Given the description of an element on the screen output the (x, y) to click on. 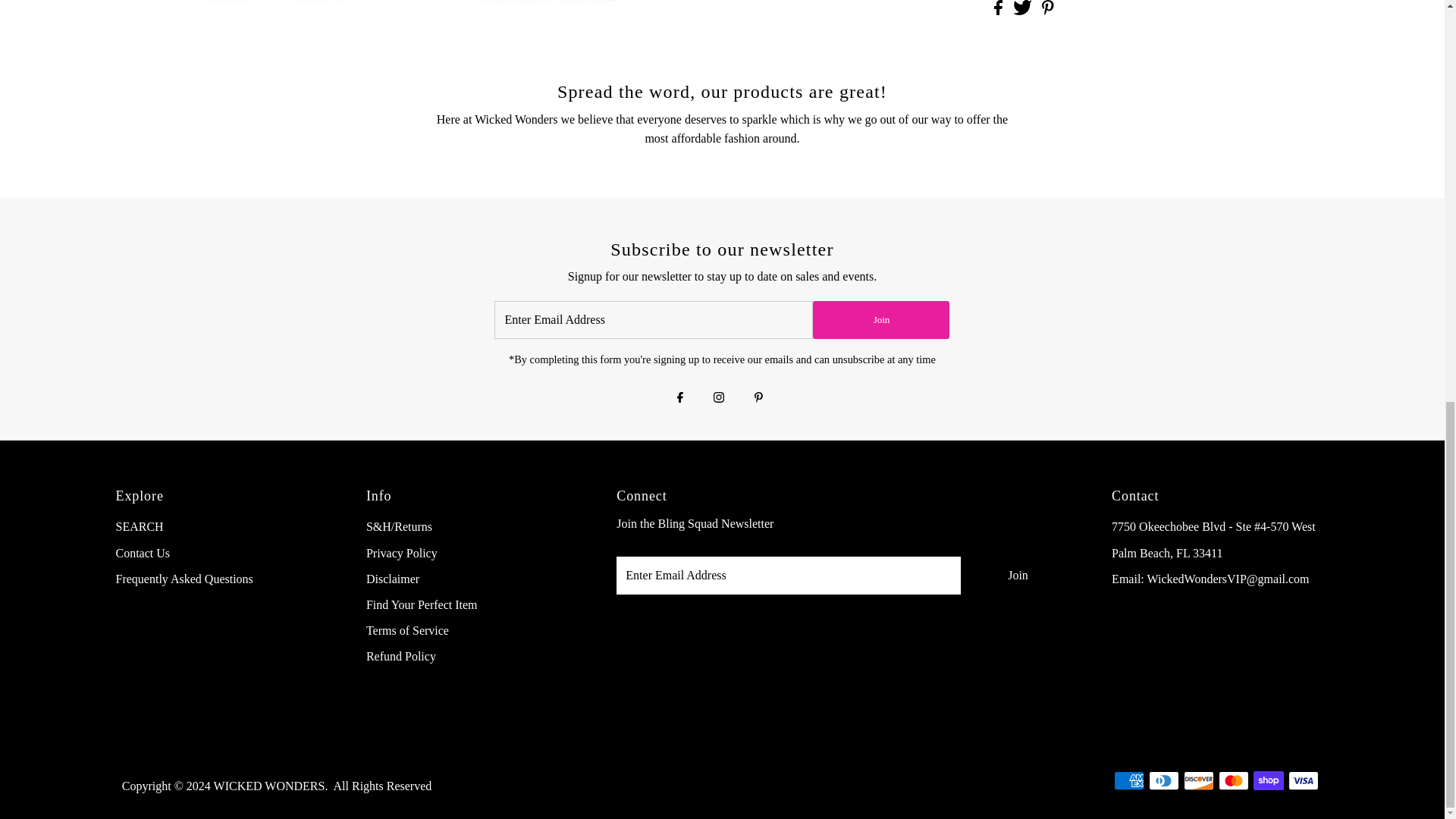
Share on Twitter (1024, 10)
Share on Pinterest (1048, 10)
Discover (1198, 780)
Mastercard (1233, 780)
Diners Club (1163, 780)
Join (1017, 575)
American Express (1128, 780)
